Given the description of an element on the screen output the (x, y) to click on. 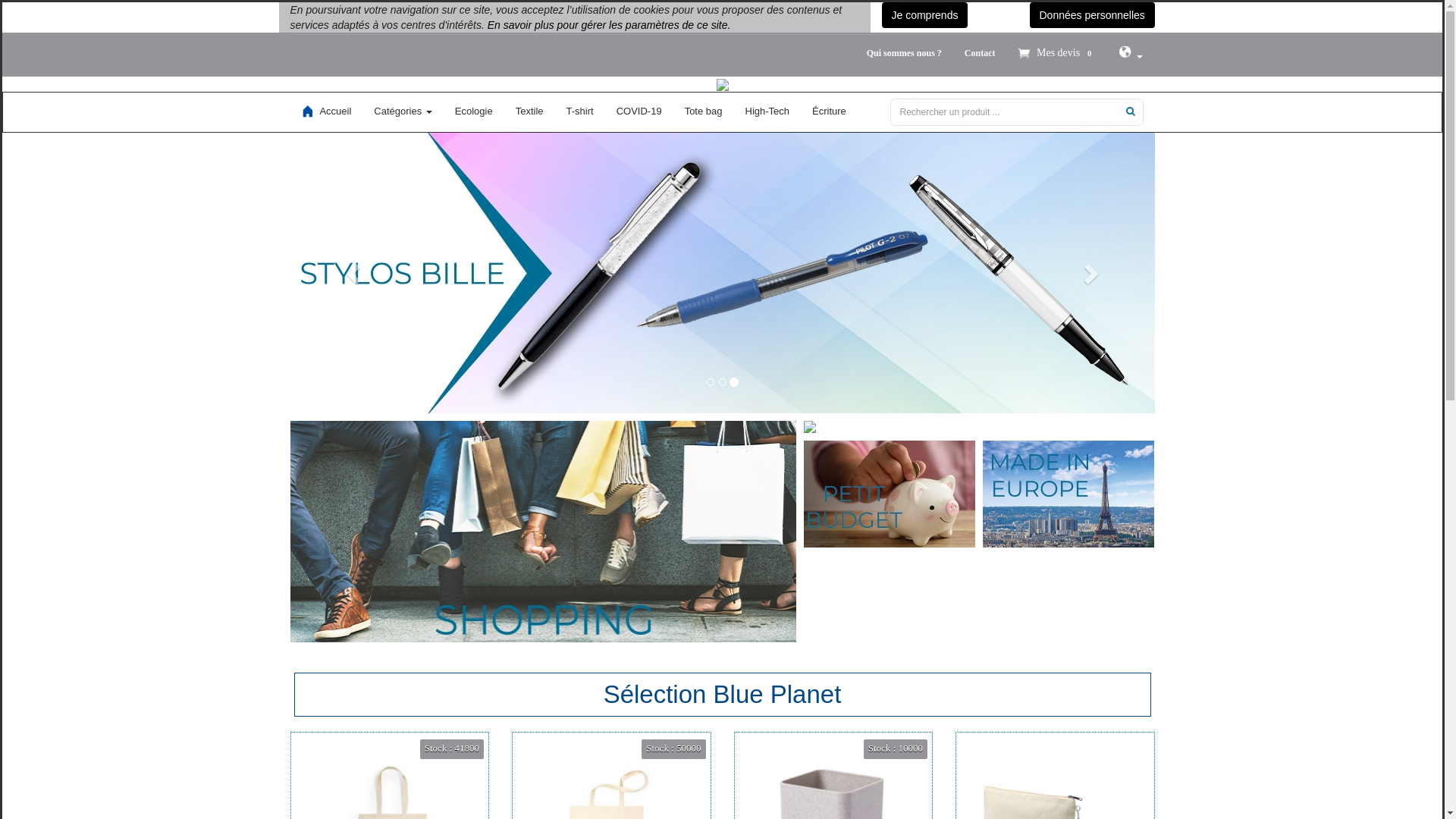
Textile Element type: text (529, 111)
Contact Element type: text (980, 53)
Langues (FR) Element type: text (1130, 54)
Accueil Element type: text (325, 111)
Je comprends Element type: text (924, 15)
Suivant Element type: text (1089, 272)
COVID-19 Element type: text (639, 111)
T-shirt Element type: text (580, 111)
Mes devis 0 Element type: text (1056, 53)
Rechercher Element type: hover (1129, 111)
Ecologie Element type: text (473, 111)
High-Tech Element type: text (767, 111)
Tote bag Element type: text (703, 111)
Qui sommes nous ? Element type: text (904, 53)
